Given the description of an element on the screen output the (x, y) to click on. 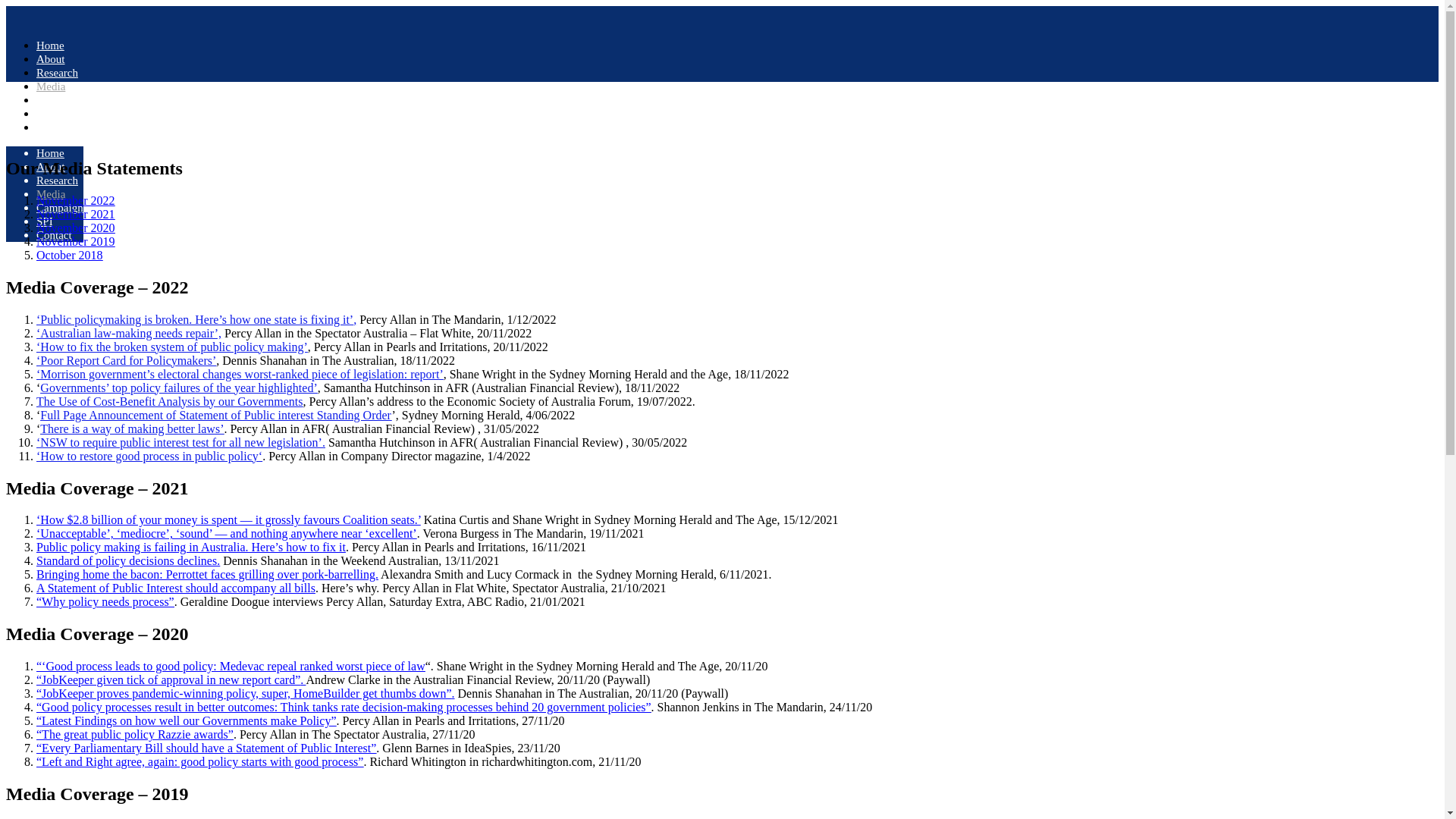
Research Element type: text (57, 72)
Campaign Element type: text (59, 207)
Contact Element type: text (54, 235)
November 2022 Element type: text (75, 200)
November 2021 Element type: text (75, 213)
October 2018 Element type: text (69, 254)
Campaign Element type: text (59, 100)
, Element type: text (354, 319)
Home
About
Research
Media
Campaign
SPI
Contact Element type: text (44, 193)
Home Element type: text (50, 45)
About Element type: text (50, 59)
SPI Element type: text (44, 113)
Media Element type: text (50, 194)
About Element type: text (50, 166)
Home Element type: text (50, 153)
Standard of policy decisions declines. Element type: text (127, 560)
November 2019 Element type: text (75, 241)
Media Element type: text (50, 86)
Contact Element type: text (54, 127)
November 2020 Element type: text (75, 227)
The Use of Cost-Benefit Analysis by our Governments Element type: text (169, 401)
SPI Element type: text (44, 221)
Research Element type: text (57, 180)
A Statement of Public Interest should accompany all bills Element type: text (175, 587)
